Given the description of an element on the screen output the (x, y) to click on. 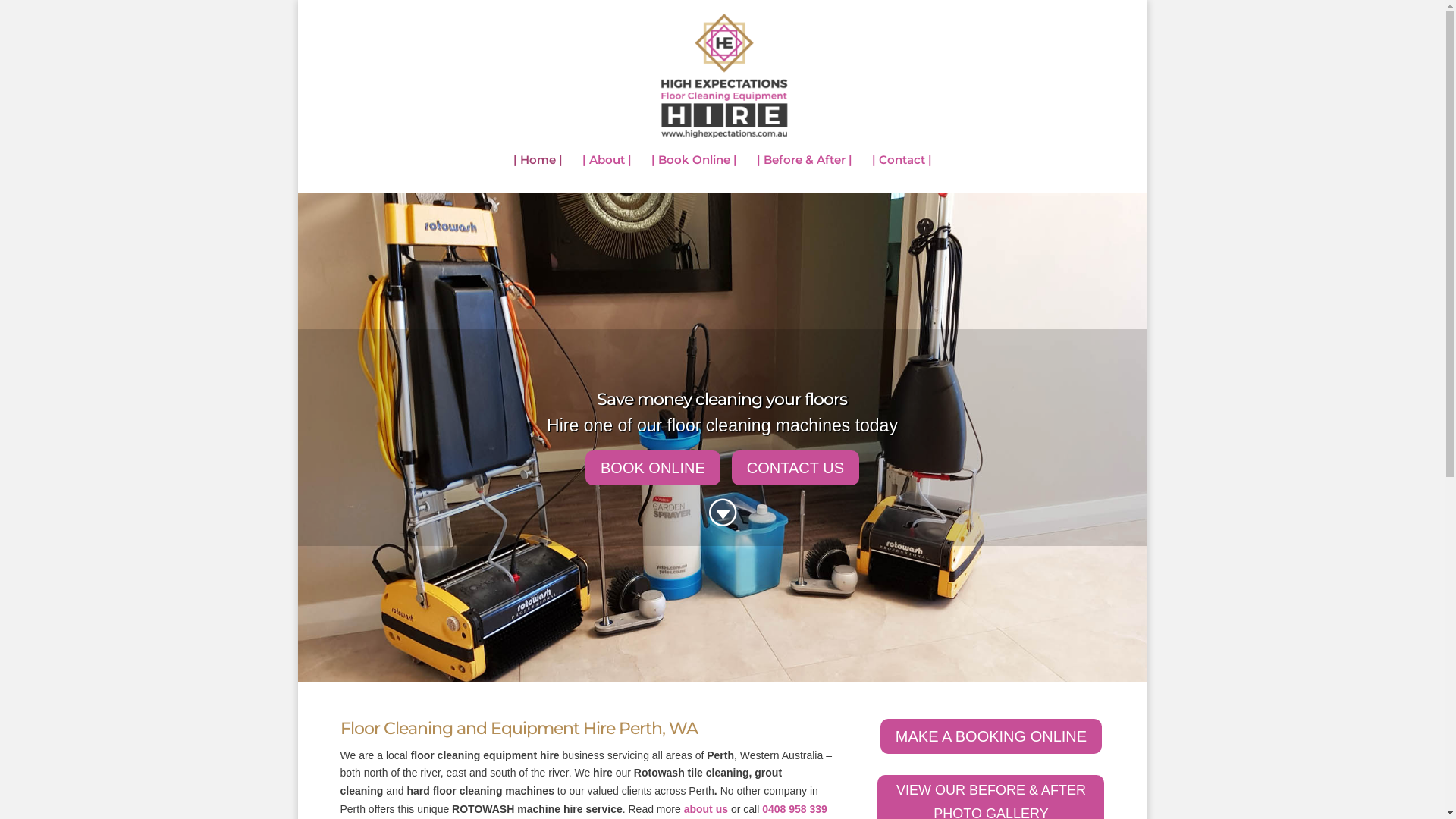
| About | Element type: text (606, 173)
| Home | Element type: text (536, 173)
| Book Online | Element type: text (693, 173)
| Contact | Element type: text (901, 173)
MAKE A BOOKING ONLINE Element type: text (990, 735)
about us Element type: text (706, 809)
CONTACT US Element type: text (795, 467)
G Element type: text (722, 513)
BOOK ONLINE Element type: text (652, 467)
| Before & After | Element type: text (804, 173)
0408 958 339 Element type: text (794, 809)
